Given the description of an element on the screen output the (x, y) to click on. 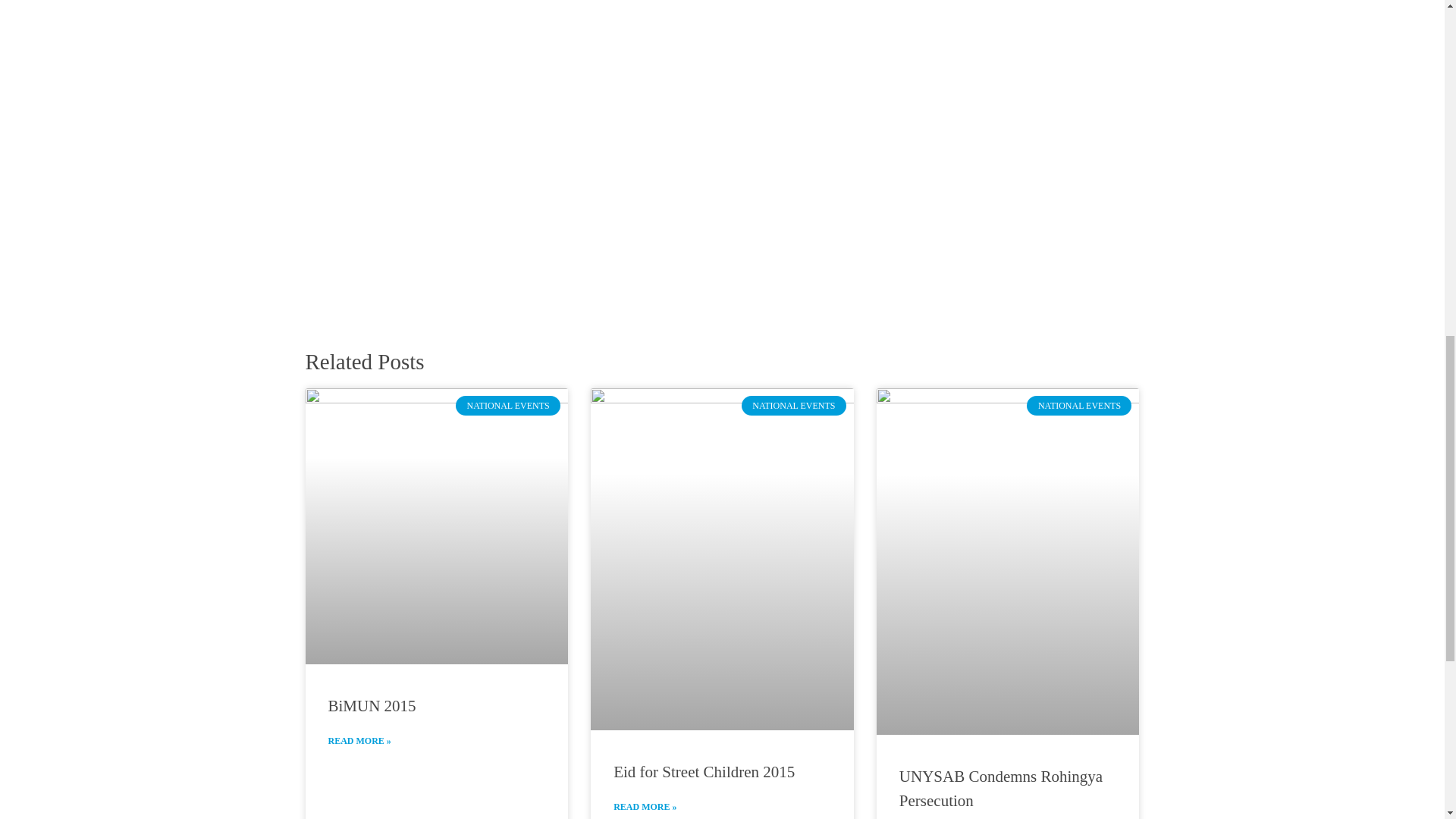
UNYSAB Condemns Rohingya Persecution (1000, 788)
BiMUN 2015 (370, 705)
Eid for Street Children 2015 (703, 771)
